Given the description of an element on the screen output the (x, y) to click on. 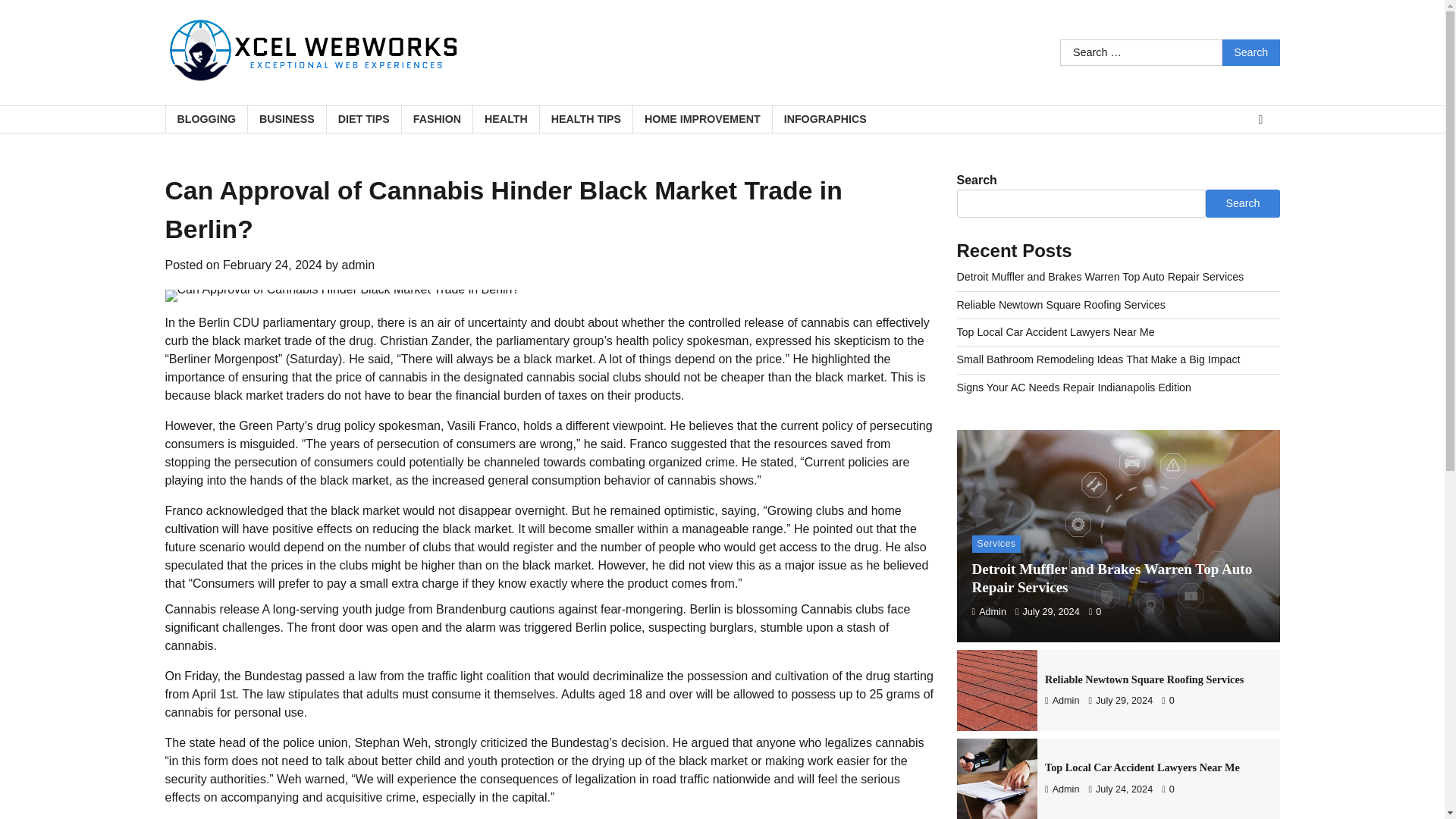
HEALTH TIPS (584, 119)
View Random Post (1260, 119)
Search (1242, 203)
FASHION (436, 119)
February 24, 2024 (271, 264)
Signs Your AC Needs Repair Indianapolis Edition (1073, 387)
Small Bathroom Remodeling Ideas That Make a Big Impact (1098, 358)
Reliable Newtown Square Roofing Services (1061, 304)
Detroit Muffler and Brakes Warren Top Auto Repair Services (1112, 578)
Search (1251, 52)
